Given the description of an element on the screen output the (x, y) to click on. 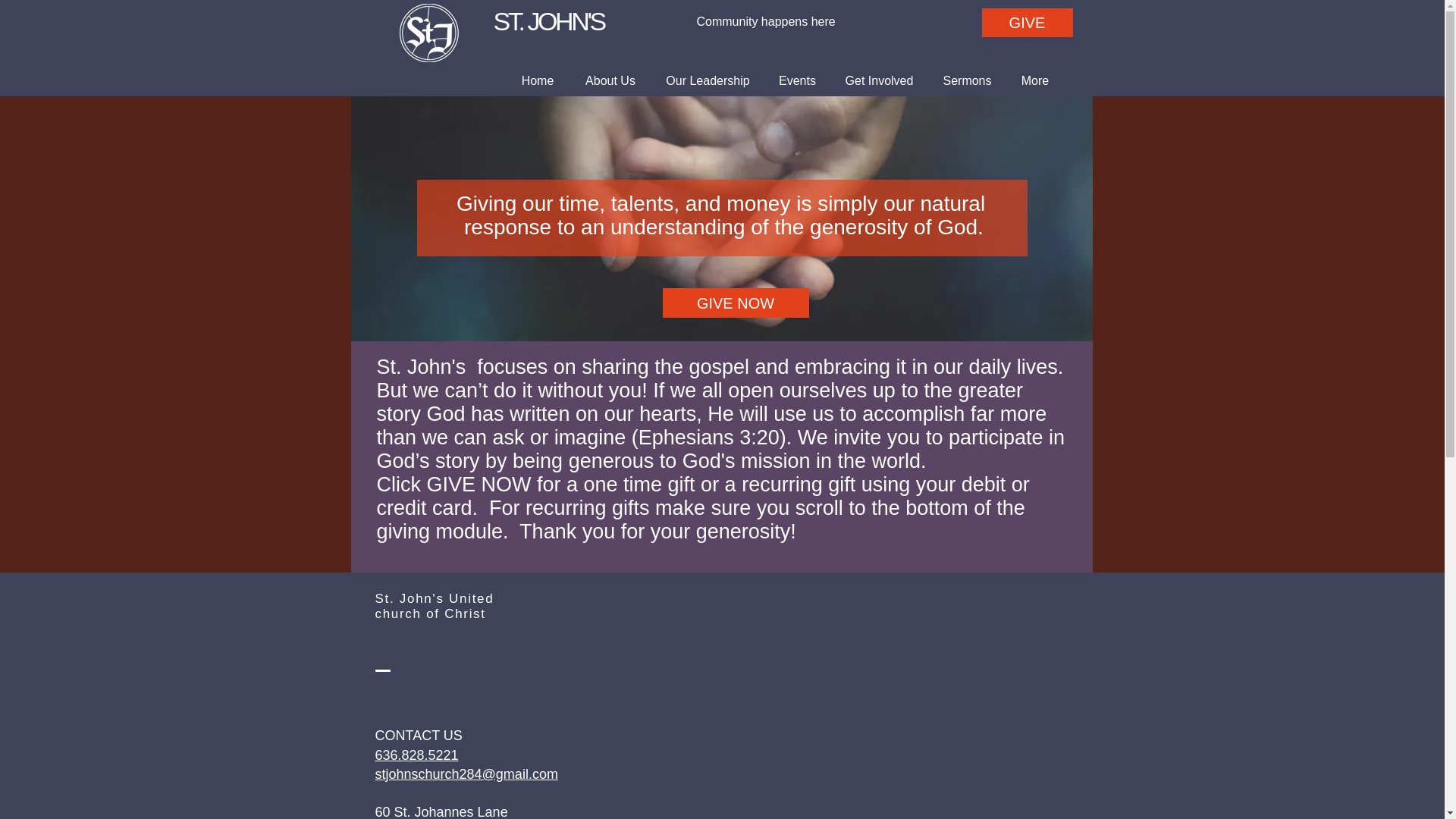
Home (537, 80)
Sermons (967, 80)
GIVE NOW (735, 302)
Events (796, 80)
Get Involved (878, 80)
GIVE (417, 745)
About Us (1026, 22)
Our Leadership (610, 80)
